Given the description of an element on the screen output the (x, y) to click on. 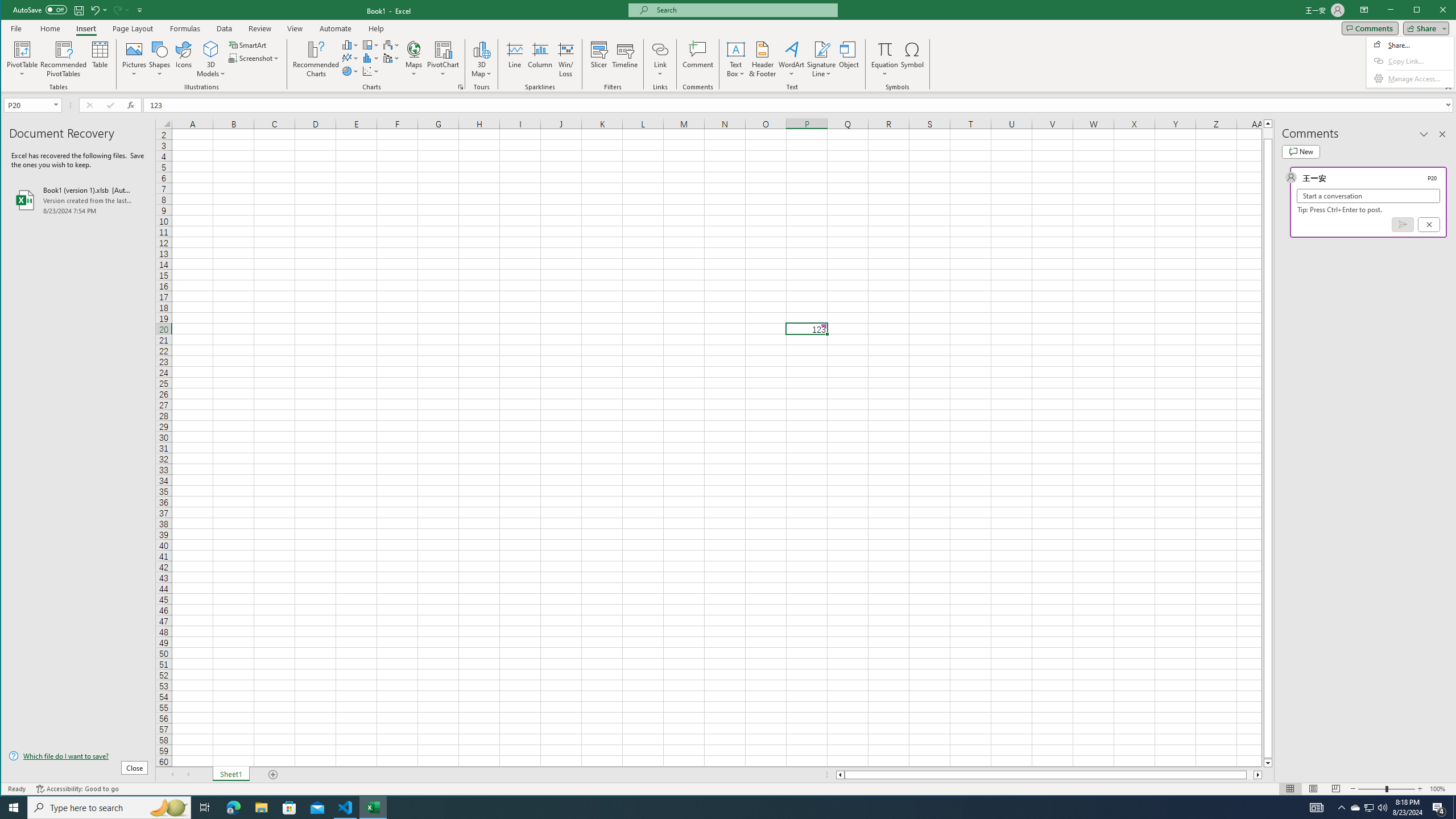
Timeline (625, 59)
Link (659, 48)
Recommended PivotTables (63, 59)
